Given the description of an element on the screen output the (x, y) to click on. 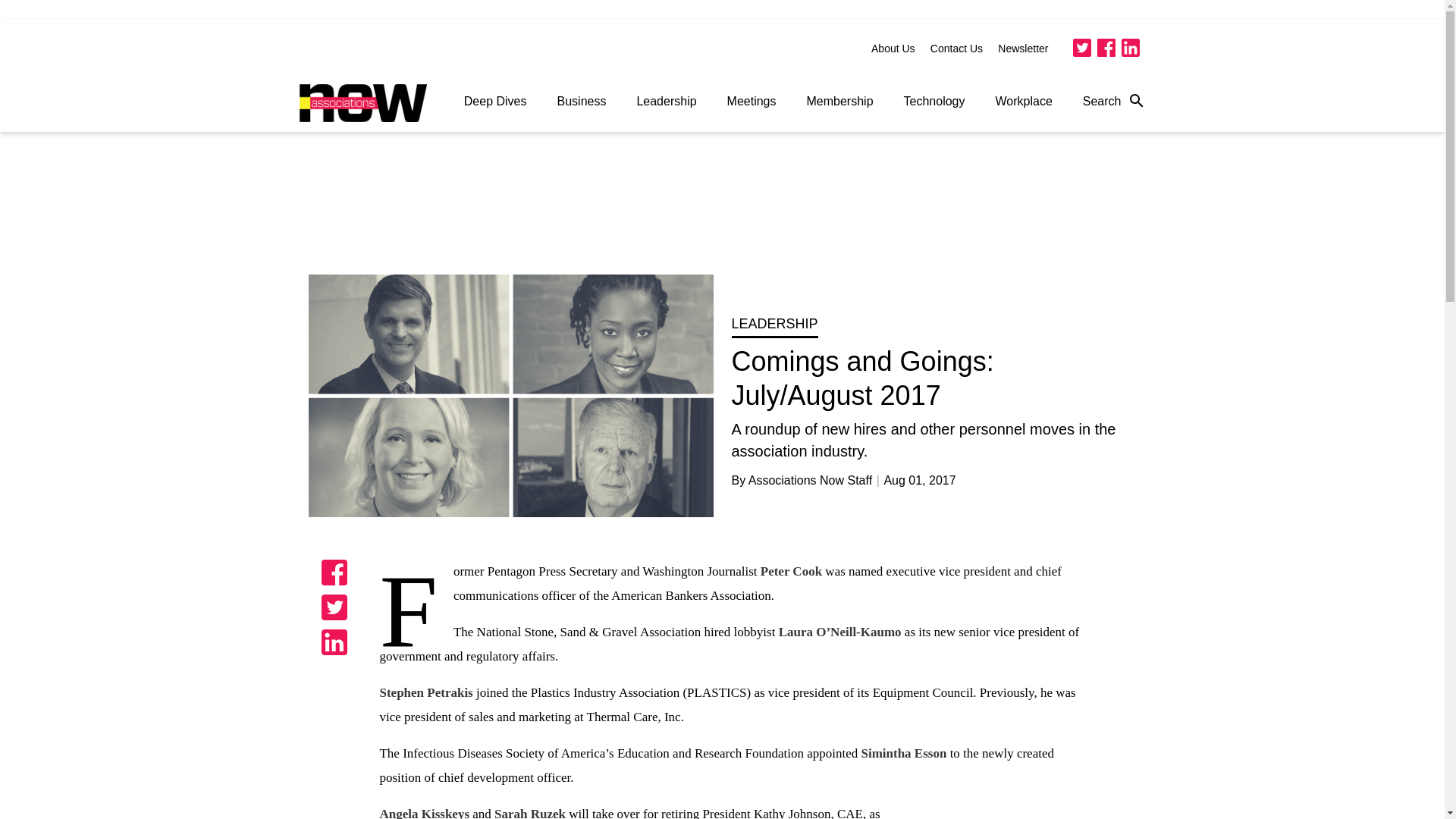
3rd party ad content (722, 210)
Leadership (666, 101)
3rd party ad content (1030, 810)
Meetings (751, 101)
Business (581, 101)
Share (334, 606)
Visit us onTwitter (1080, 47)
Facebook (1105, 47)
Contact Us (956, 48)
Technology (933, 101)
Share (334, 642)
Deep Dives (494, 101)
Membership (840, 101)
Share (334, 572)
Visit us onLinkedIn (1129, 47)
